Given the description of an element on the screen output the (x, y) to click on. 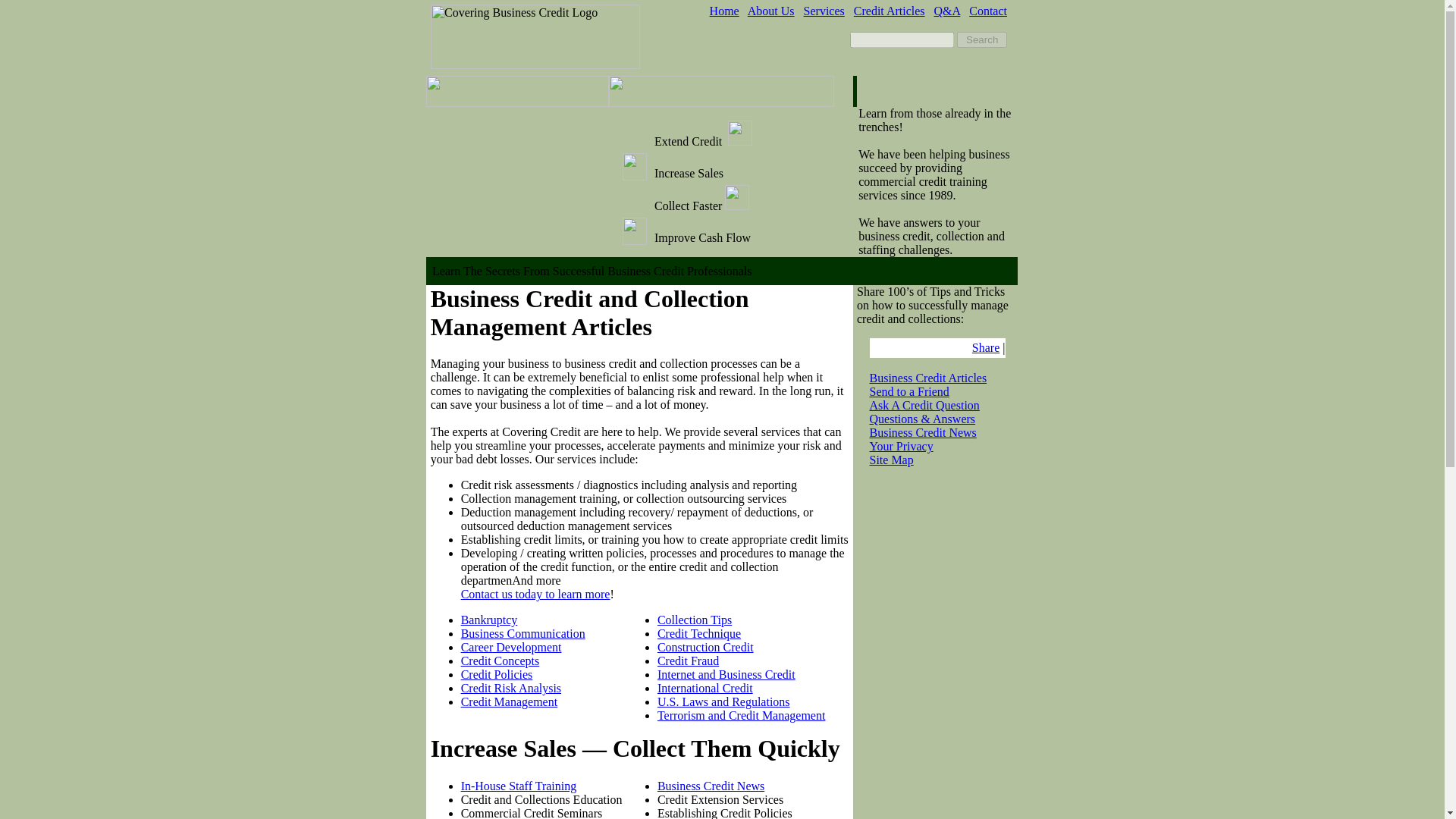
Credit Fraud (688, 660)
Credit Technique (699, 633)
Credit Risk Analysis (510, 687)
Career Development (511, 646)
Internet and Business Credit (726, 674)
Terrorism and Credit Management (741, 715)
U.S. Laws and Regulations (724, 701)
International Credit (705, 687)
Business Credit News (711, 785)
Collection Tips (695, 619)
